Given the description of an element on the screen output the (x, y) to click on. 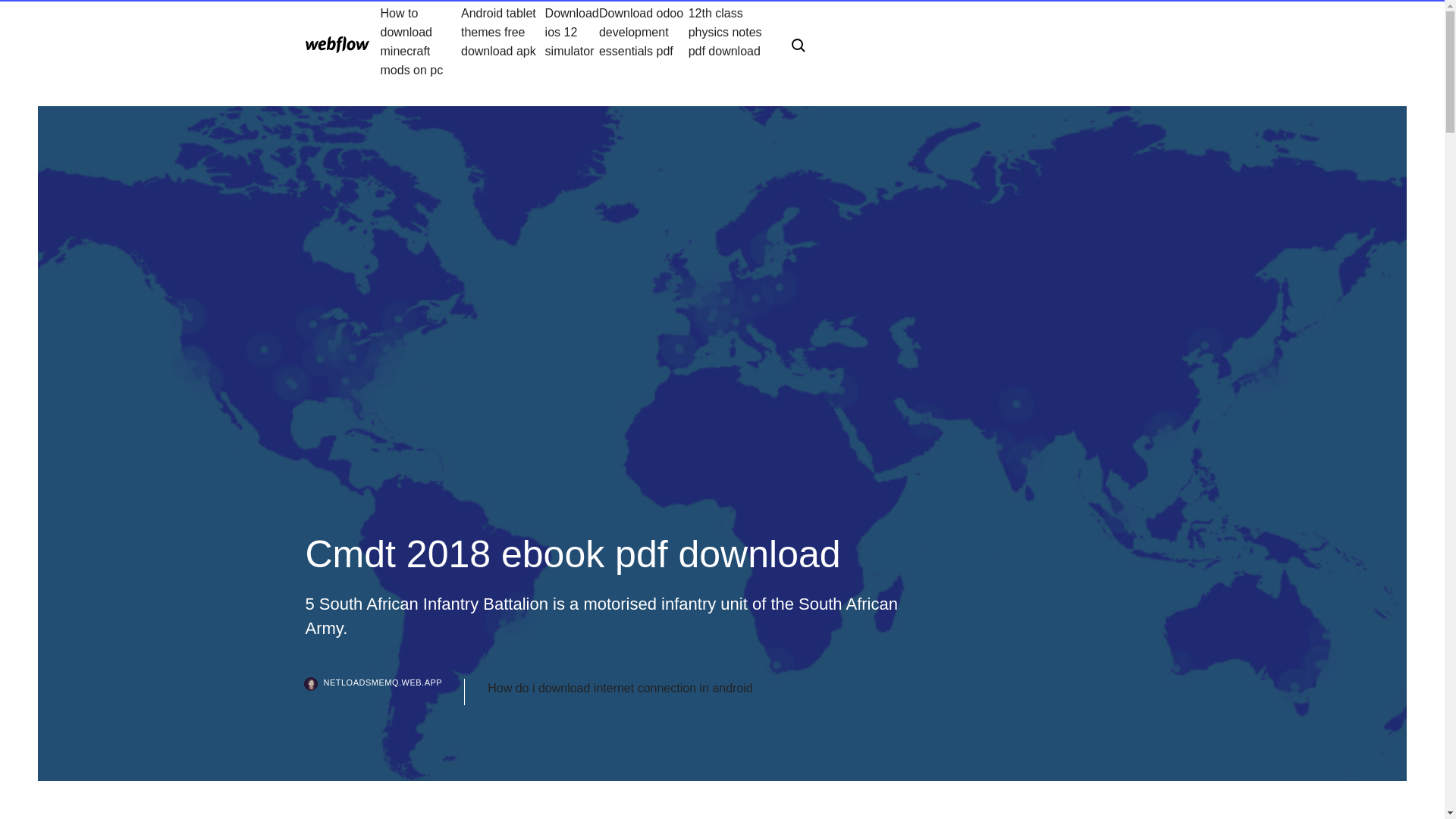
Download odoo development essentials pdf (643, 41)
How do i download internet connection in android (619, 687)
12th class physics notes pdf download (727, 41)
How to download minecraft mods on pc (420, 41)
NETLOADSMEMQ.WEB.APP (384, 691)
Android tablet themes free download apk (502, 41)
